Given the description of an element on the screen output the (x, y) to click on. 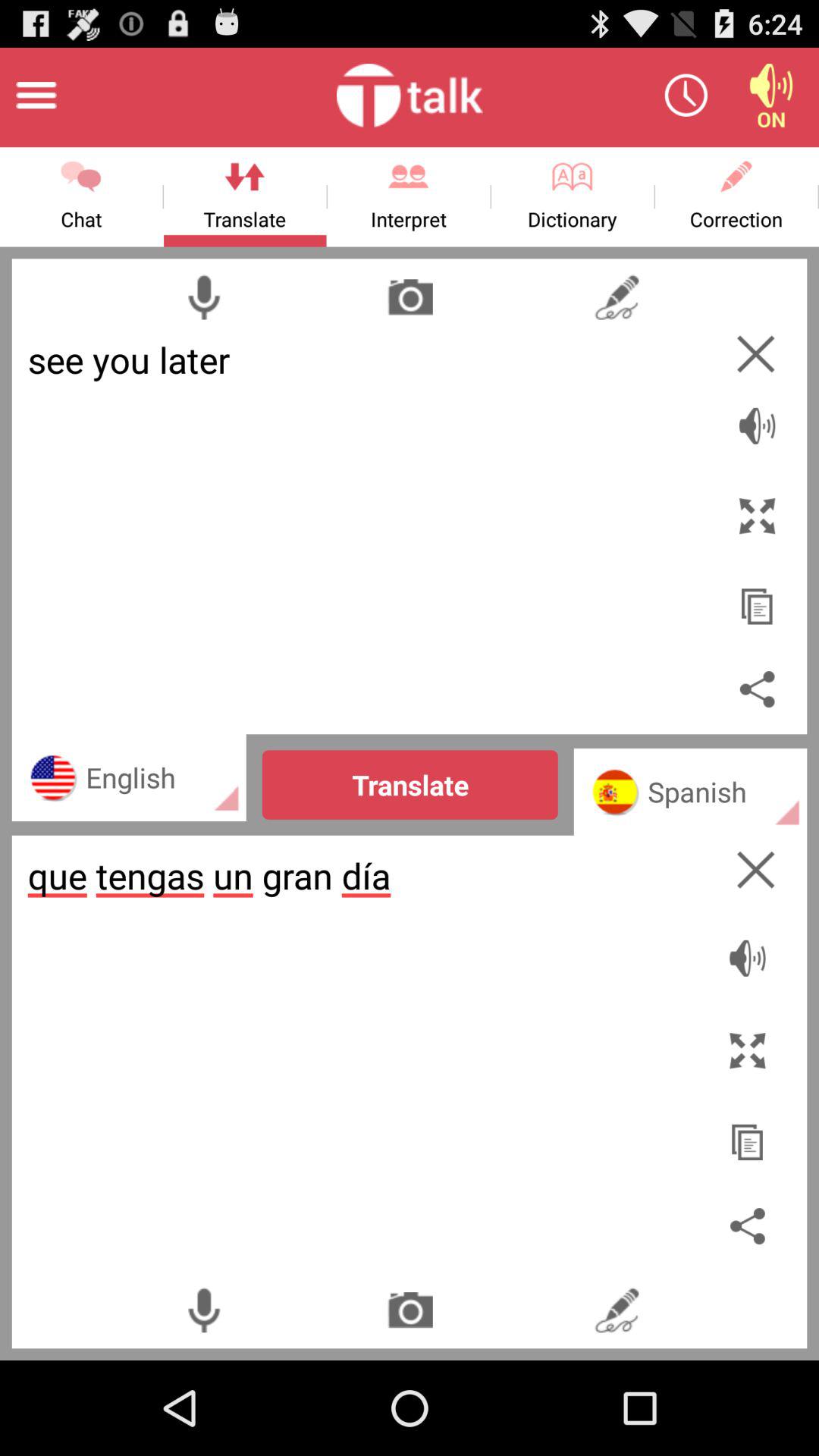
use stylus (616, 1309)
